Given the description of an element on the screen output the (x, y) to click on. 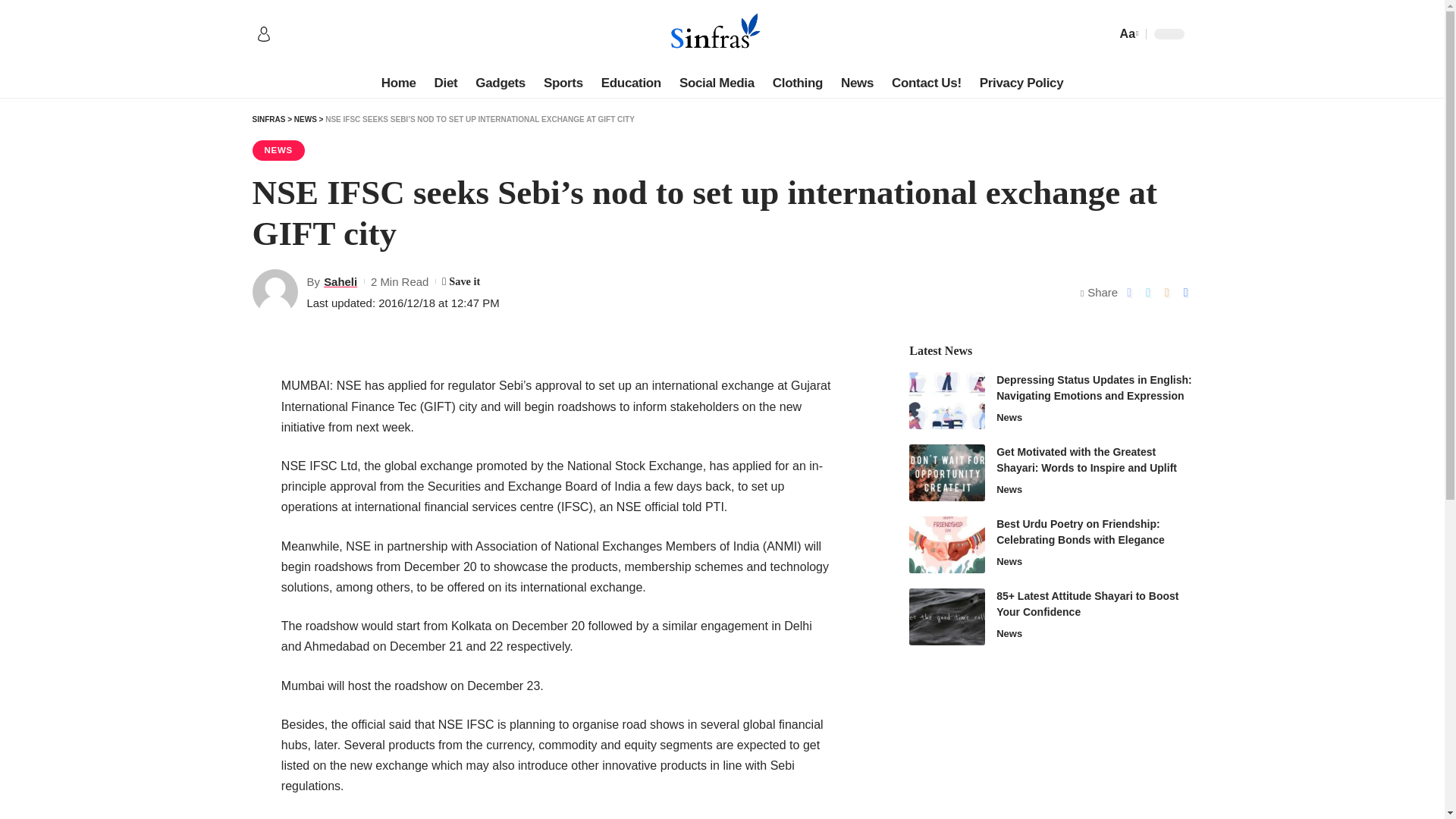
Clothing (796, 82)
NEWS (305, 119)
Diet (446, 82)
Education (630, 82)
Privacy Policy (1022, 82)
Sports (563, 82)
Aa (1127, 33)
